Given the description of an element on the screen output the (x, y) to click on. 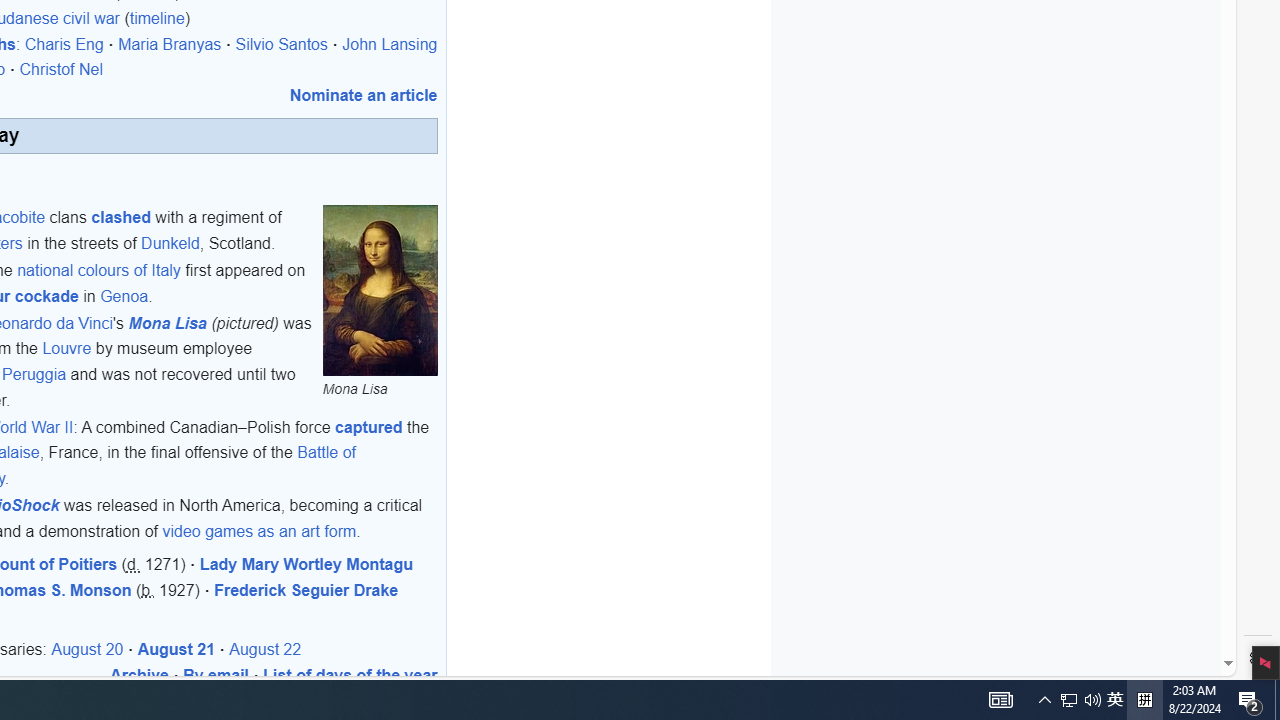
(timeline) (157, 19)
August 22 (265, 649)
Dunkeld (169, 242)
Nominate an article (363, 94)
Lady Mary Wortley Montagu (305, 564)
